Given the description of an element on the screen output the (x, y) to click on. 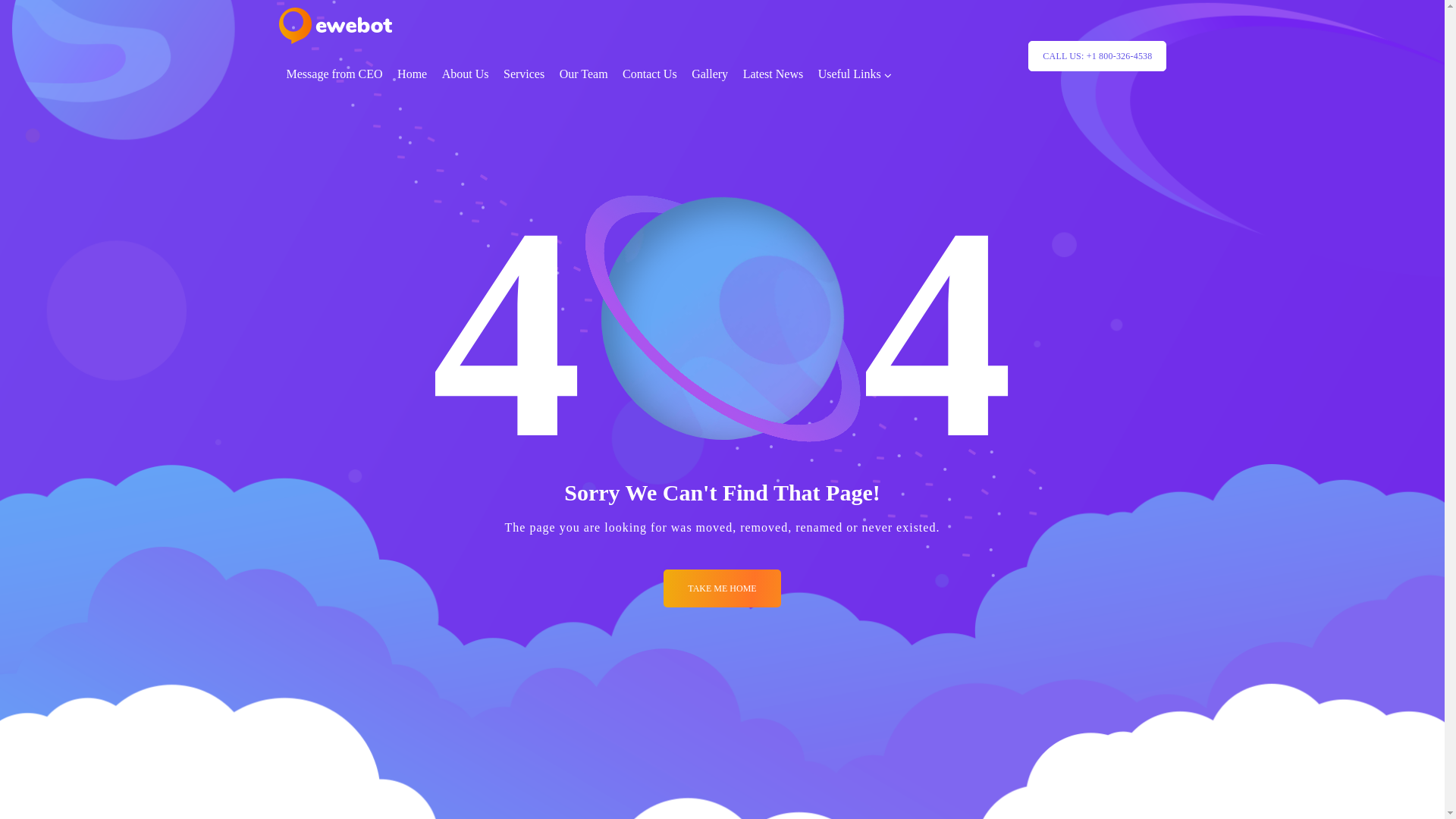
Gallery Element type: text (709, 73)
Message from CEO Element type: text (334, 73)
TAKE ME HOME Element type: text (721, 588)
Our Team Element type: text (583, 73)
Home Element type: text (411, 73)
Services Element type: text (523, 73)
Contact Us Element type: text (649, 73)
logo_retina Element type: hover (335, 25)
About Us Element type: text (465, 73)
CALL US: +1 800-326-4538 Element type: text (1097, 55)
Useful Links Element type: text (854, 73)
Latest News Element type: text (773, 73)
